Given the description of an element on the screen output the (x, y) to click on. 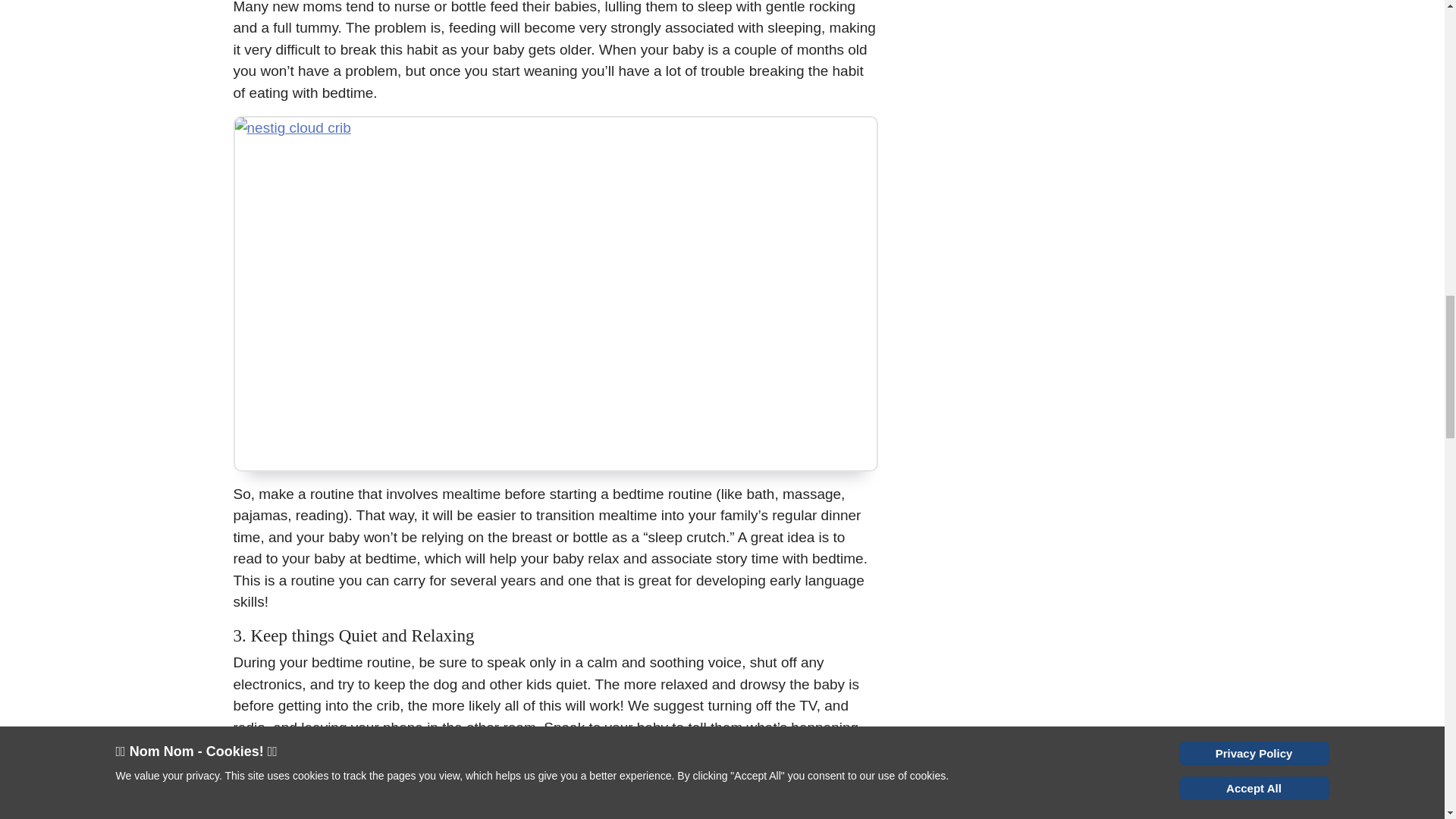
best baby monitors (518, 807)
